Given the description of an element on the screen output the (x, y) to click on. 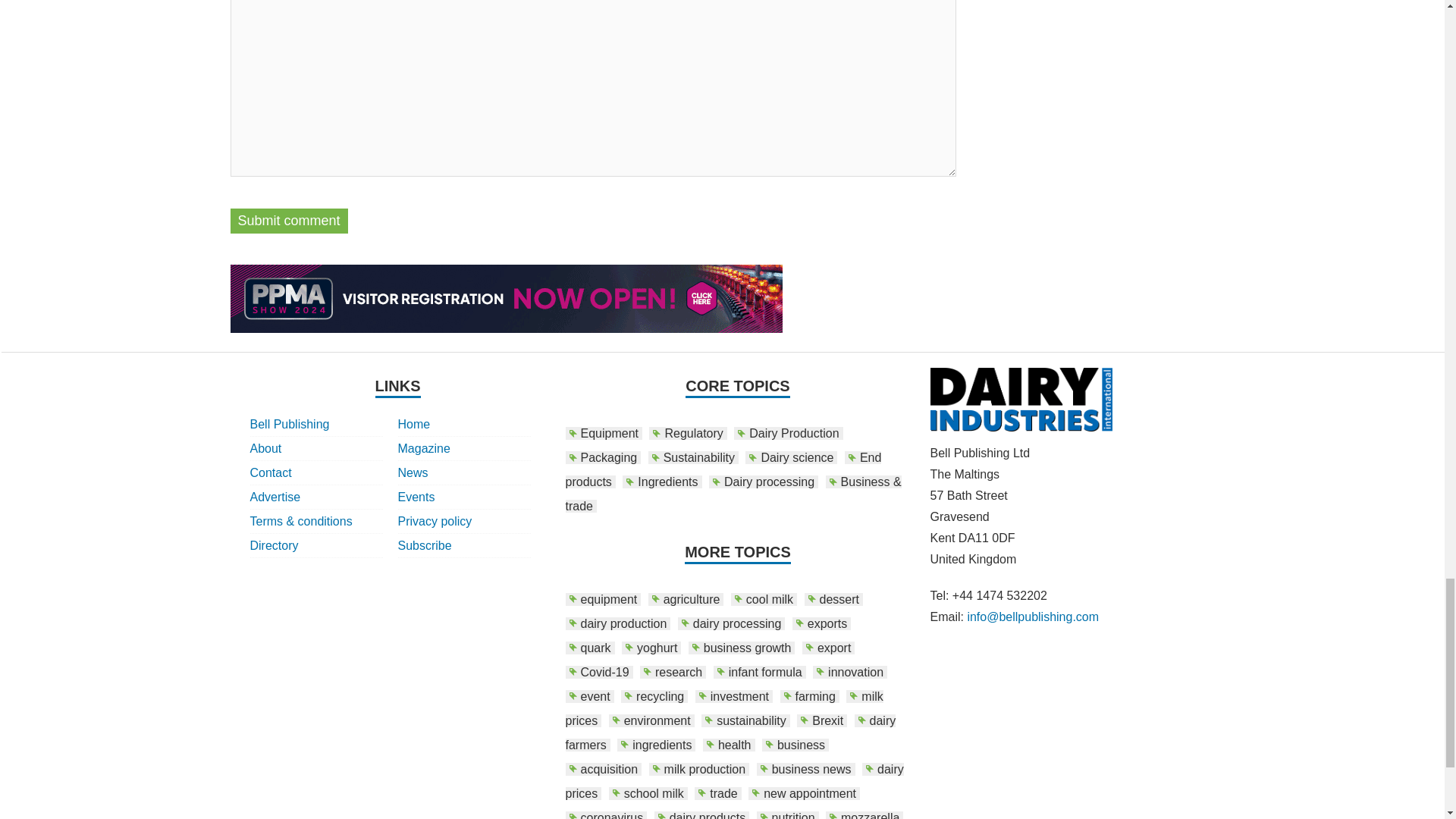
Submit comment (288, 220)
